Given the description of an element on the screen output the (x, y) to click on. 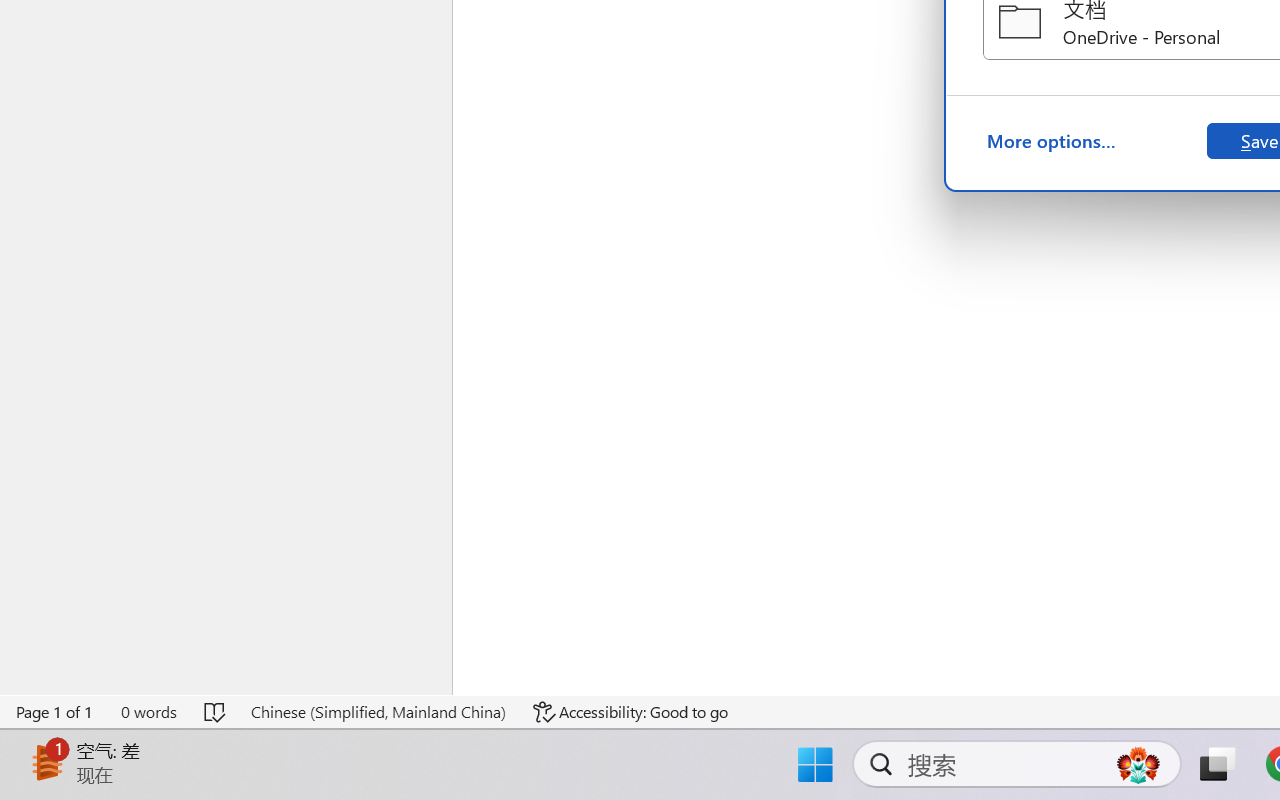
Language Chinese (Simplified, Mainland China) (378, 712)
